Given the description of an element on the screen output the (x, y) to click on. 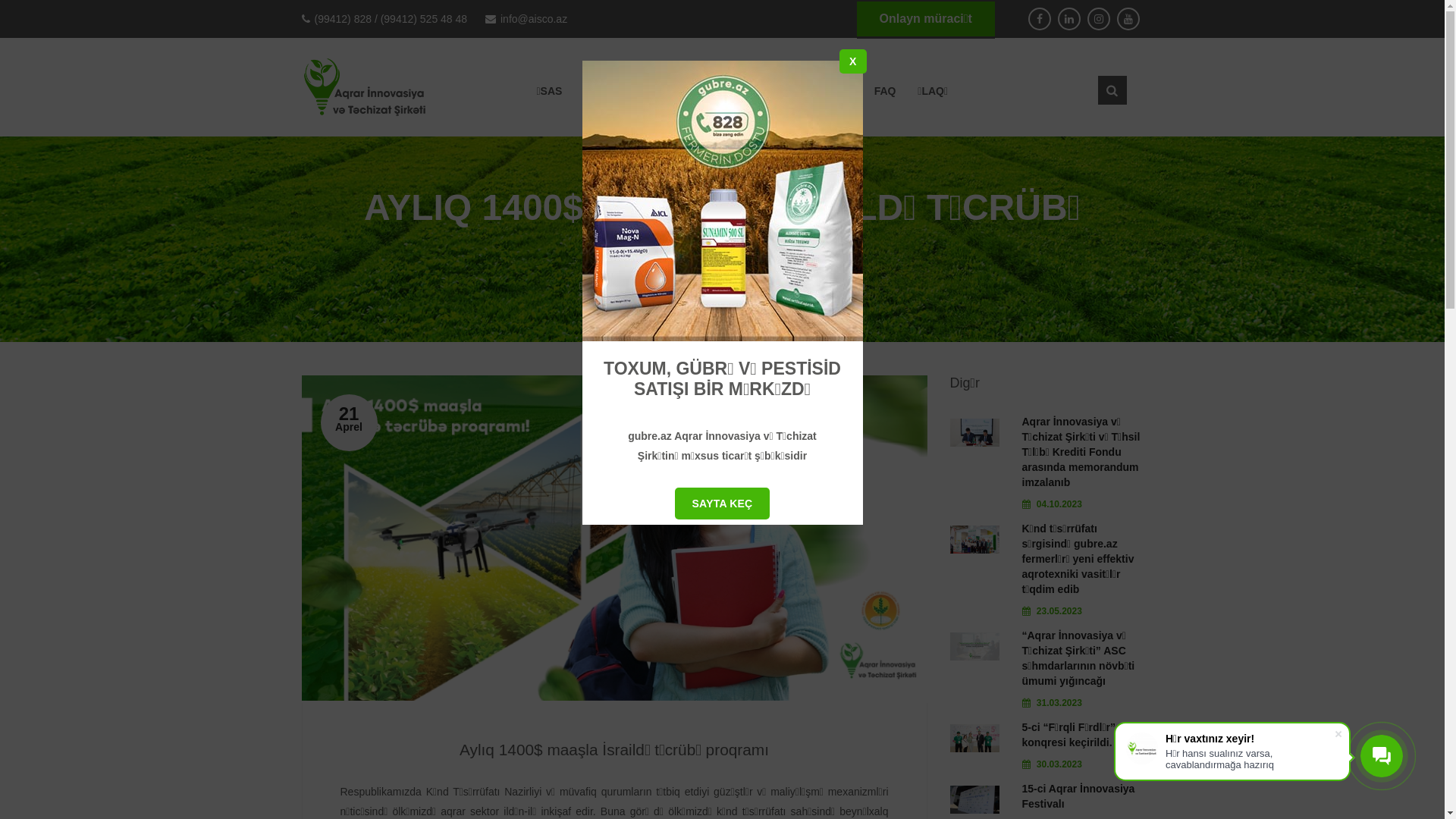
FAQ Element type: text (885, 90)
X Element type: text (852, 61)
